Given the description of an element on the screen output the (x, y) to click on. 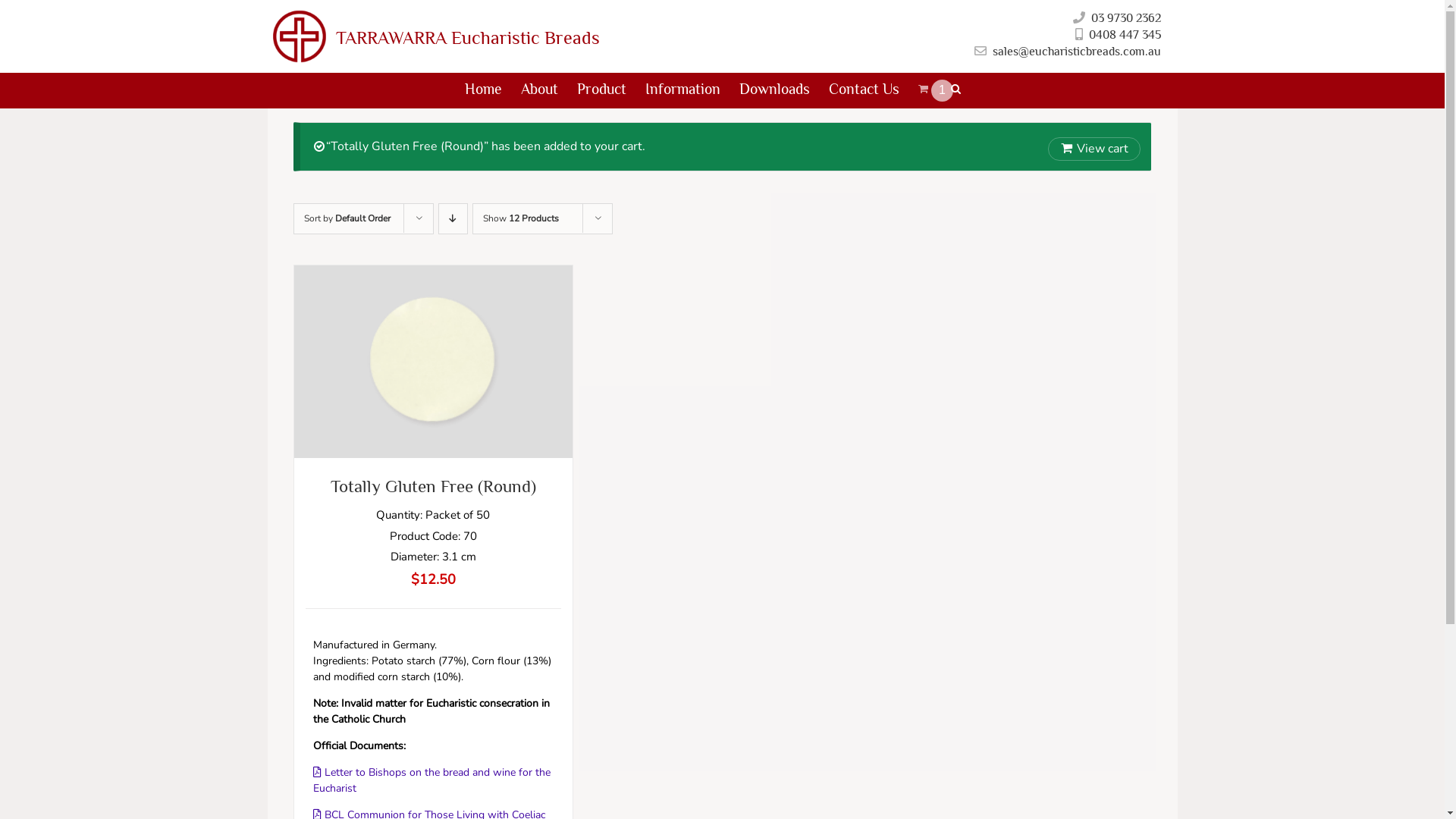
Downloads Element type: text (774, 90)
Sort by Default Order Element type: text (347, 218)
Contact Us Element type: text (863, 90)
Product Element type: text (601, 90)
About Element type: text (539, 90)
View cart Element type: text (1094, 148)
Home Element type: text (483, 90)
1 Element type: text (924, 90)
Letter to Bishops on the bread and wine for the Eucharist Element type: text (431, 780)
Information Element type: text (682, 90)
Totally Gluten Free (Round) Element type: text (433, 485)
sales@eucharisticbreads.com.au Element type: text (1075, 51)
Show 12 Products Element type: text (520, 218)
Search Element type: hover (955, 90)
